Given the description of an element on the screen output the (x, y) to click on. 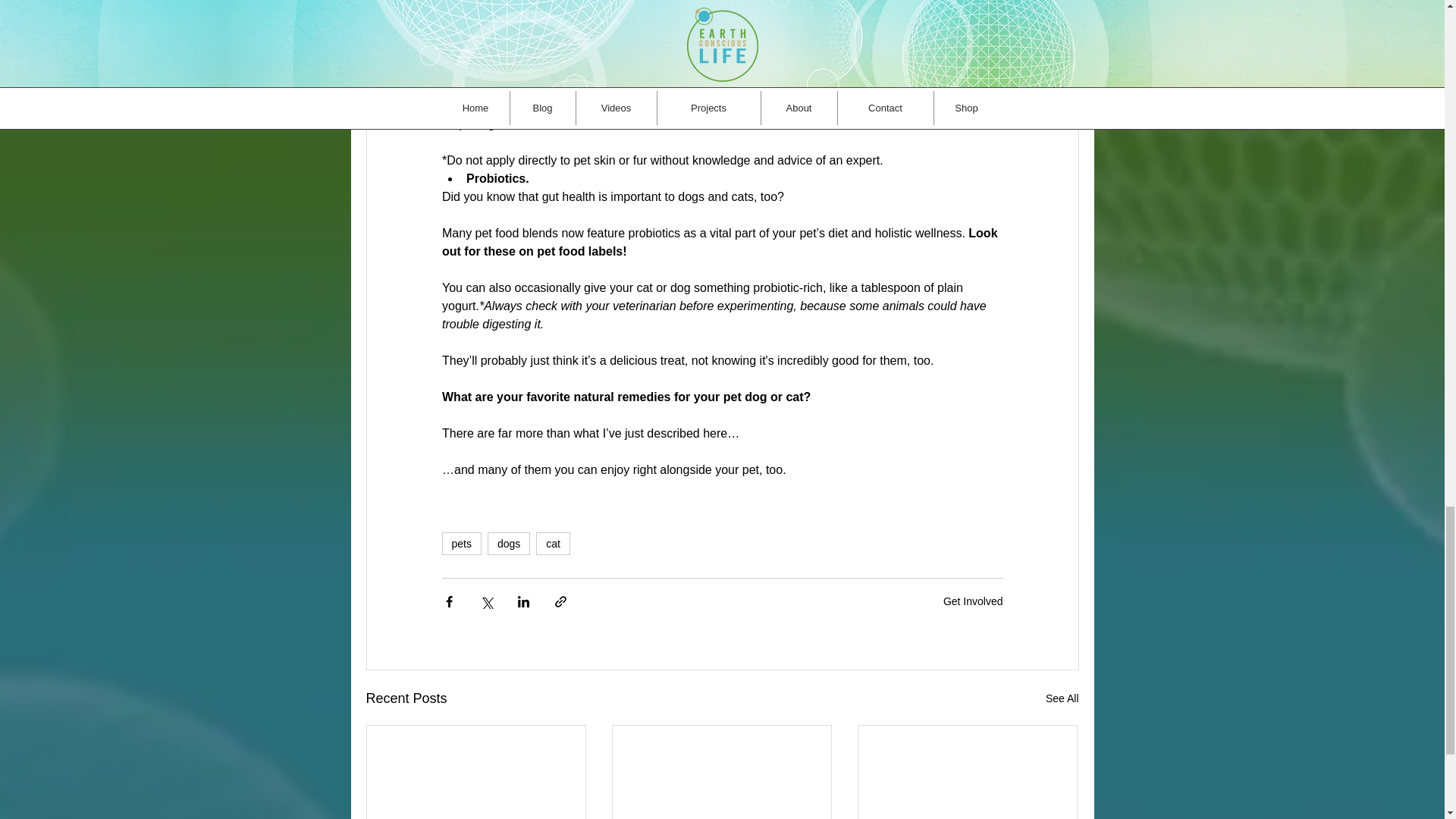
pets (460, 543)
See All (1061, 698)
Get Involved (973, 601)
cat (552, 543)
dogs (508, 543)
